Given the description of an element on the screen output the (x, y) to click on. 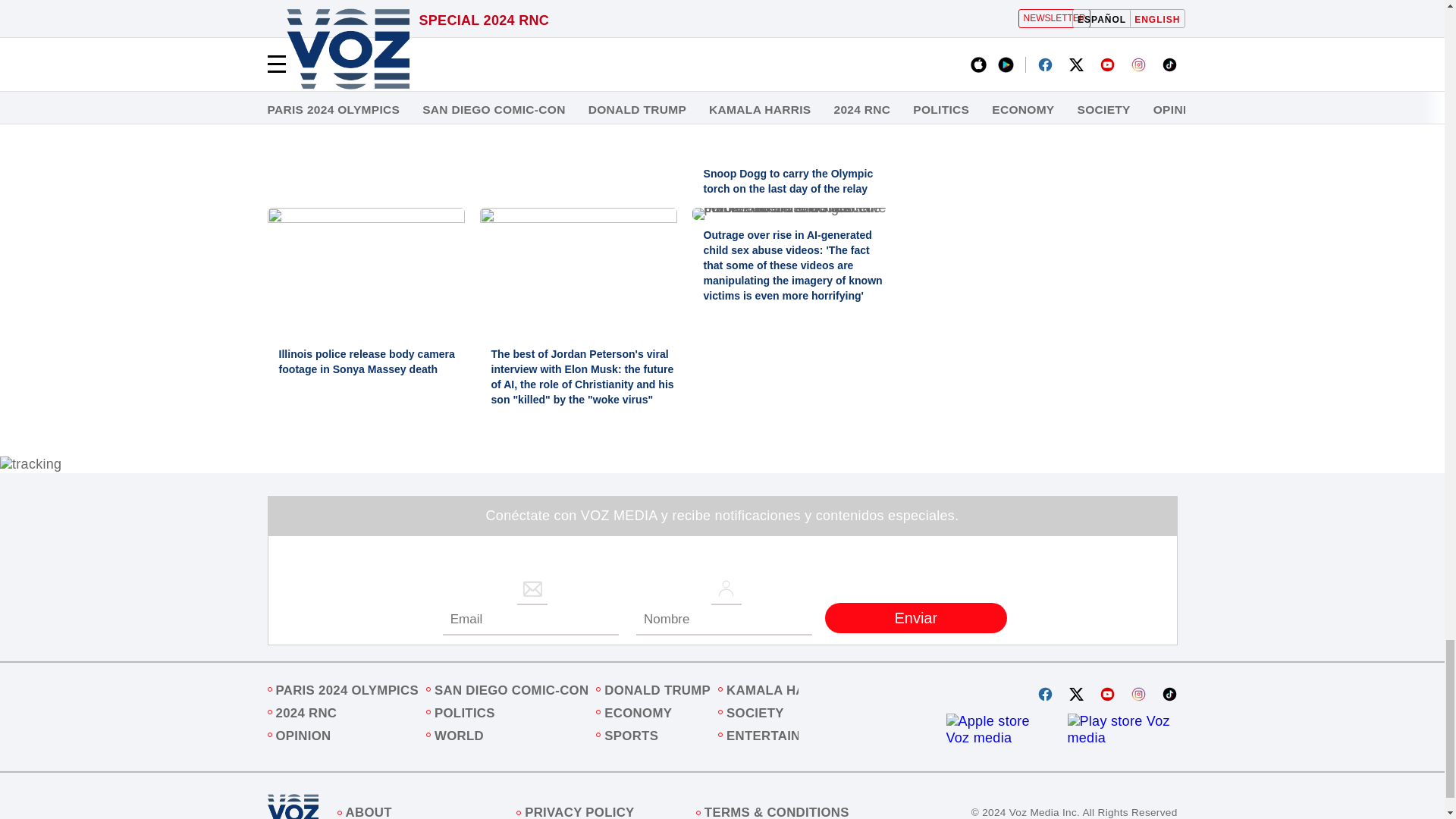
Enviar (916, 617)
